Given the description of an element on the screen output the (x, y) to click on. 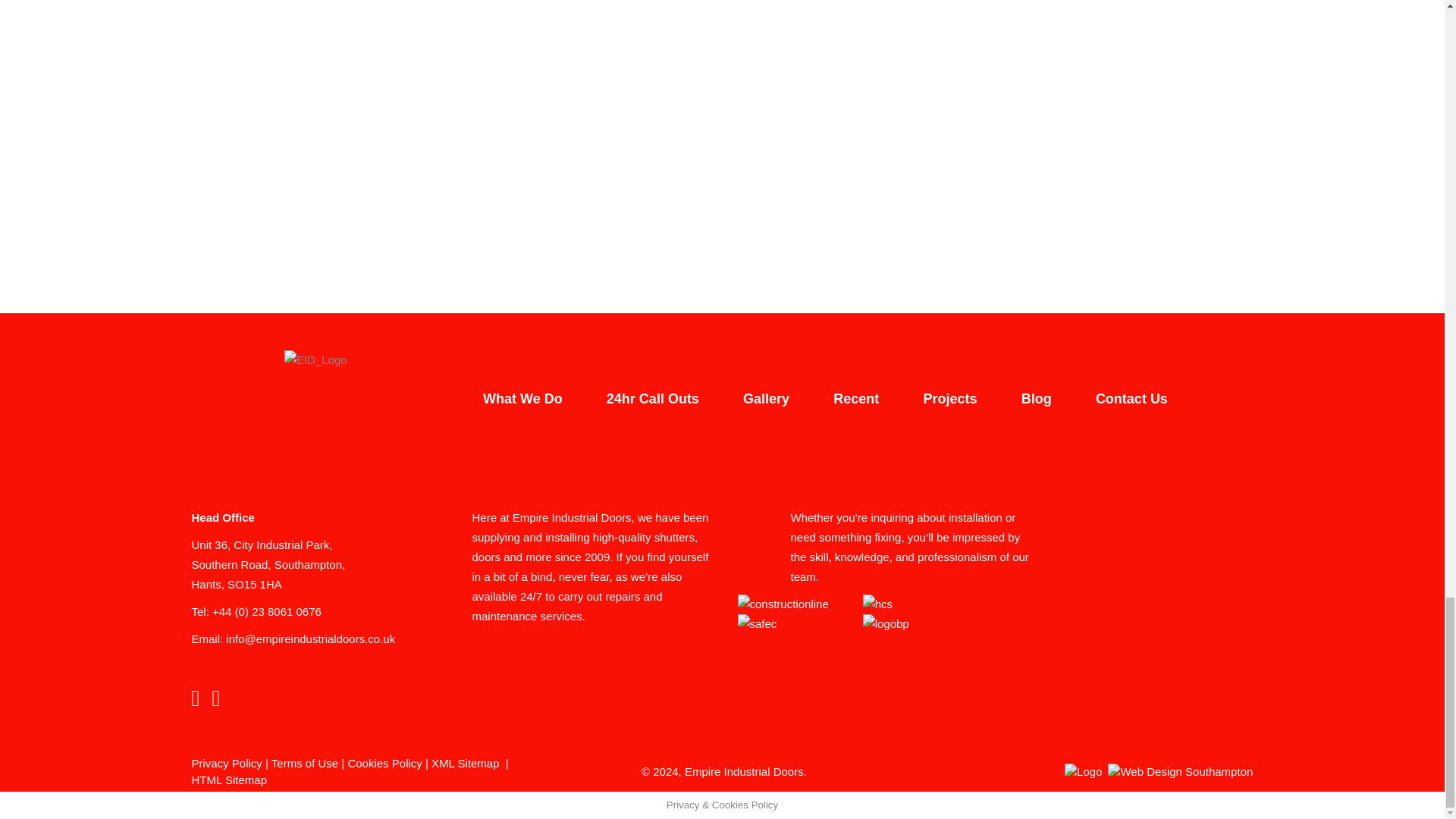
hcs-min (877, 604)
logobp-min (885, 623)
cons-min (782, 604)
safec-min (756, 623)
